Given the description of an element on the screen output the (x, y) to click on. 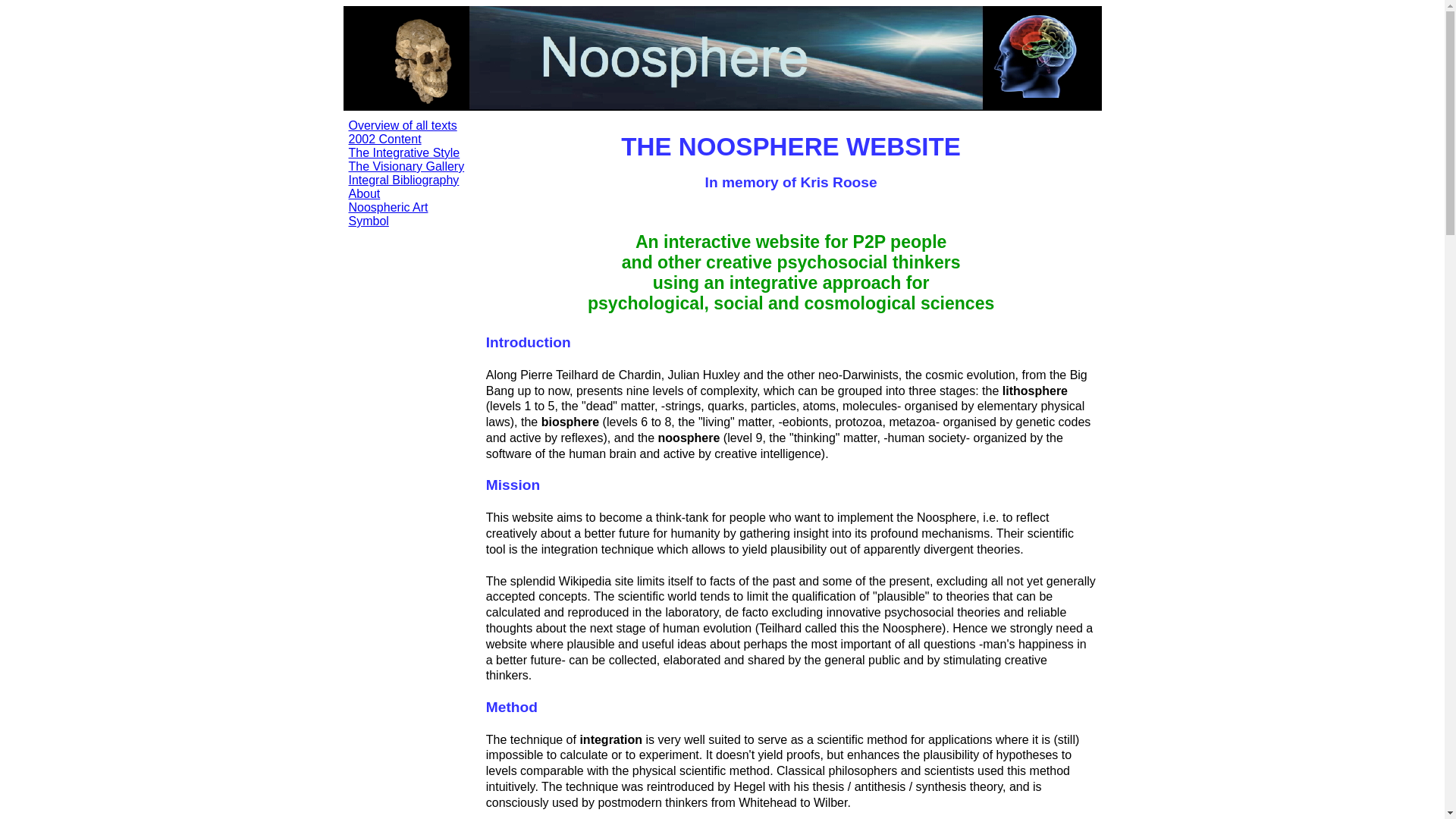
Overview of all texts Element type: text (402, 125)
Integral Bibliography Element type: text (403, 179)
The Integrative Style Element type: text (404, 152)
About Element type: text (364, 193)
Symbol Element type: text (368, 220)
The Visionary Gallery Element type: text (406, 166)
Noospheric Art Element type: text (388, 206)
2002 Content Element type: text (384, 138)
